Given the description of an element on the screen output the (x, y) to click on. 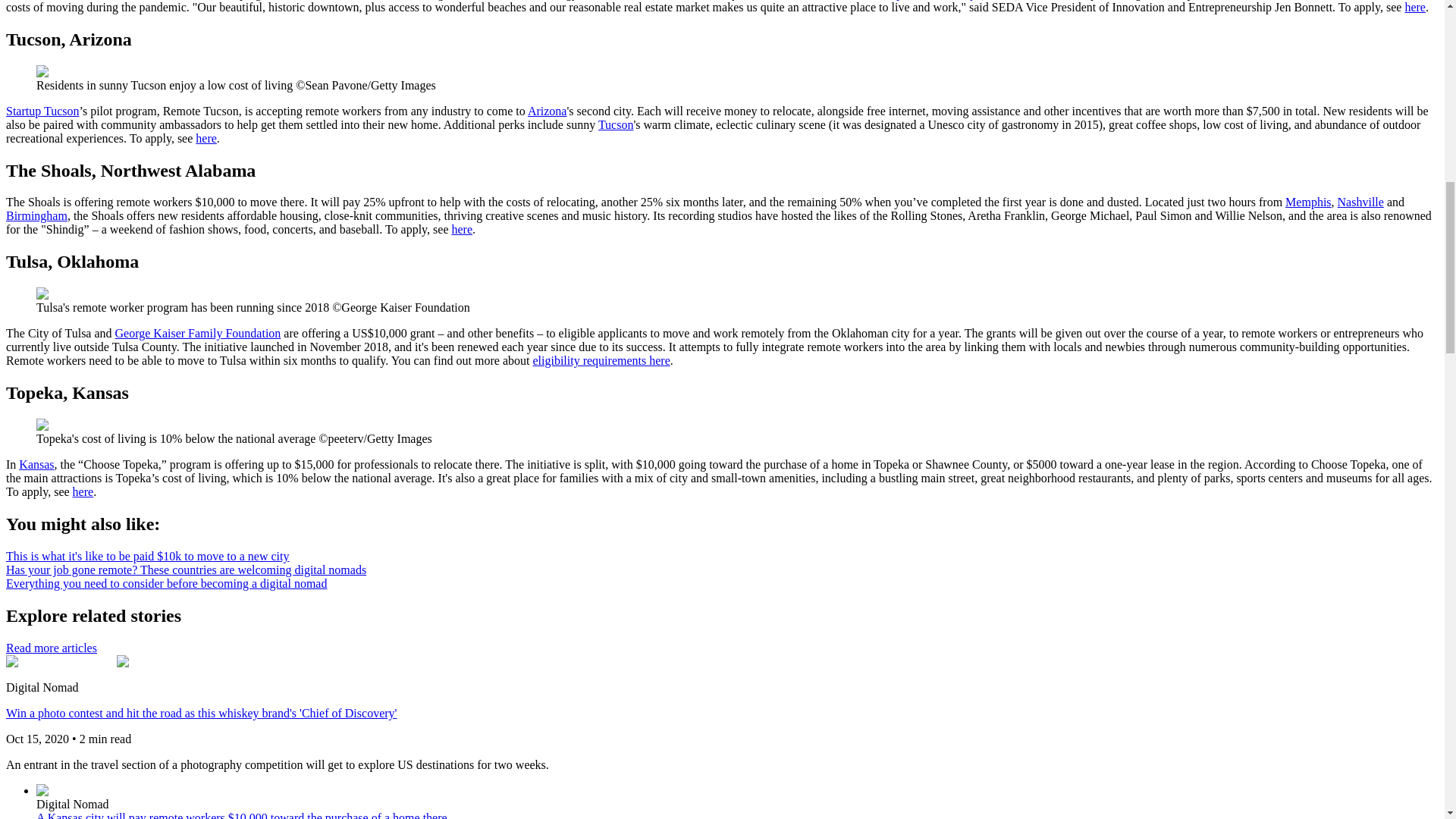
Arizona (547, 110)
Tucson (615, 124)
here (205, 137)
Nashville (1361, 201)
here (1415, 6)
Startup Tucson (41, 110)
Birmingham (35, 215)
Memphis (1307, 201)
